Given the description of an element on the screen output the (x, y) to click on. 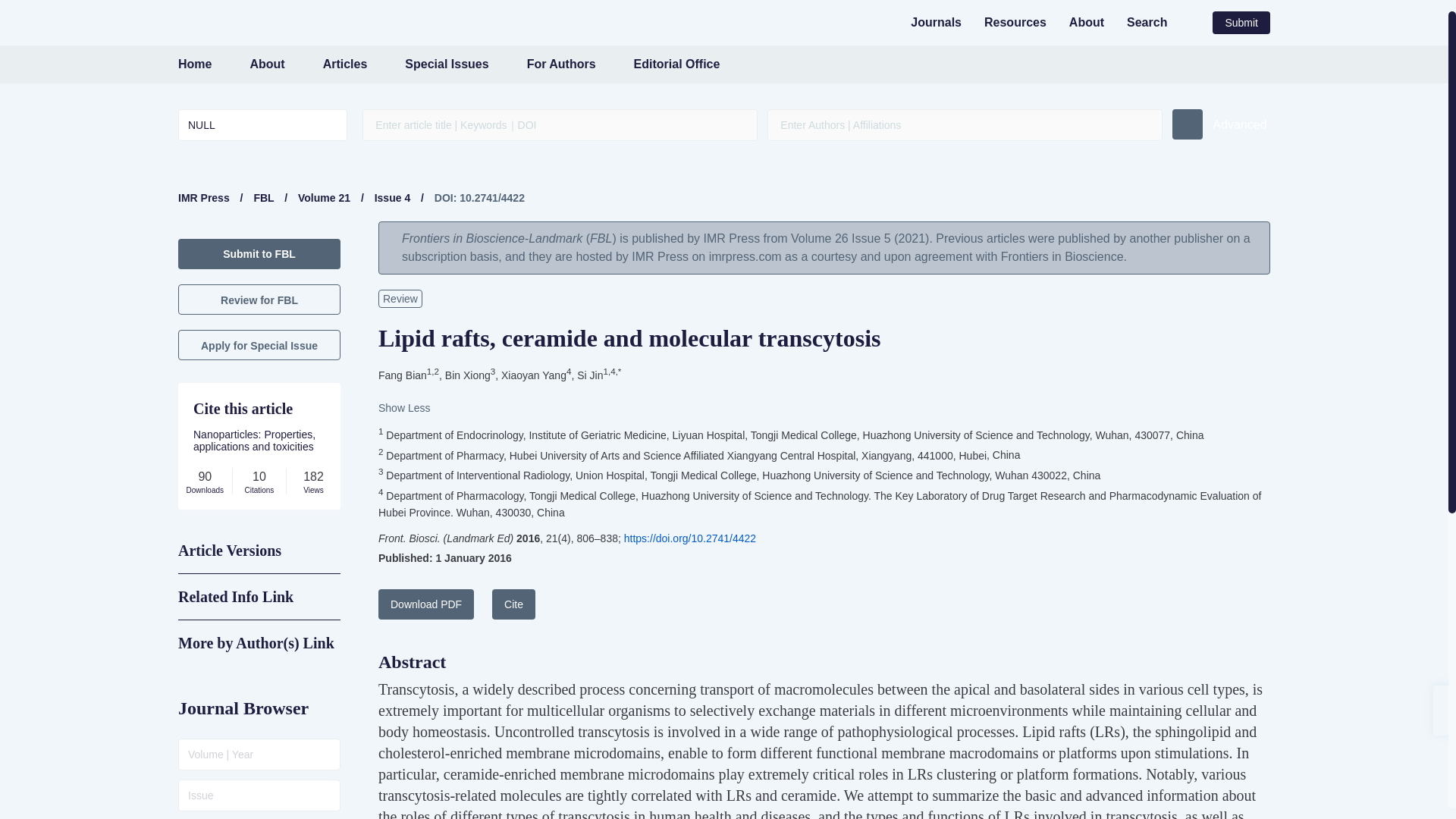
Resources (1015, 21)
About (1085, 21)
Search (1146, 21)
Home (194, 63)
Journals (935, 21)
About (265, 63)
Articles (345, 63)
